Given the description of an element on the screen output the (x, y) to click on. 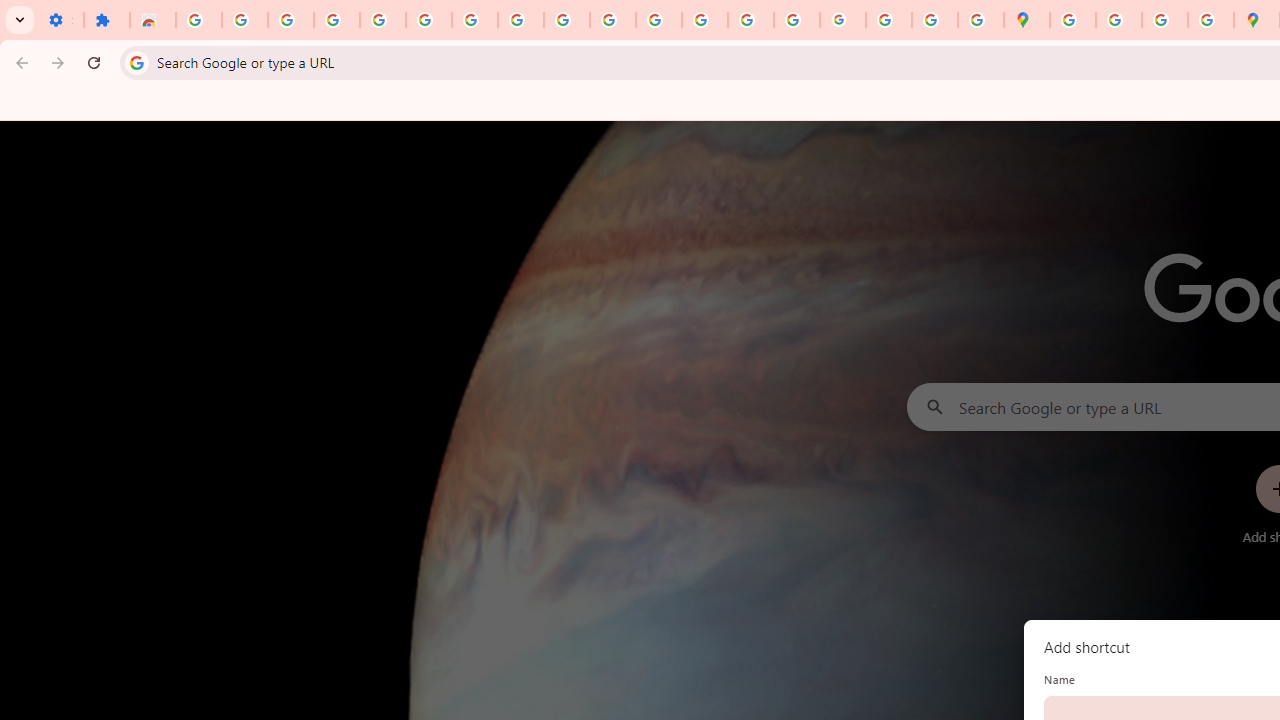
Google Maps (1026, 20)
